Given the description of an element on the screen output the (x, y) to click on. 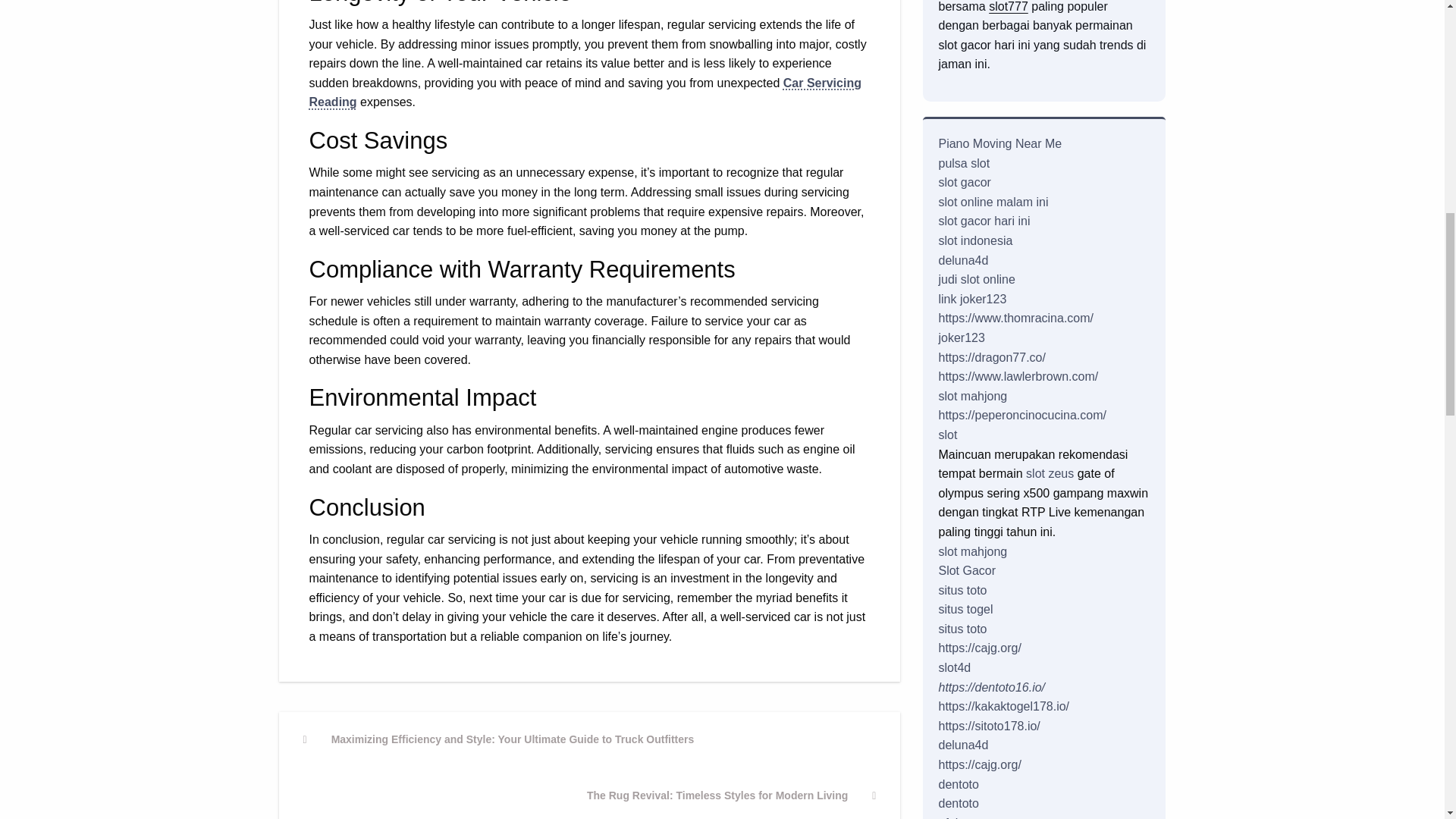
pulsa slot (731, 794)
link joker123 (963, 163)
Car Servicing Reading (971, 298)
Piano Moving Near Me (584, 92)
deluna4d (999, 143)
judi slot online (962, 259)
slot indonesia (975, 278)
slot777 (974, 240)
slot gacor (1007, 6)
slot online malam ini (963, 182)
joker123 (992, 201)
